Given the description of an element on the screen output the (x, y) to click on. 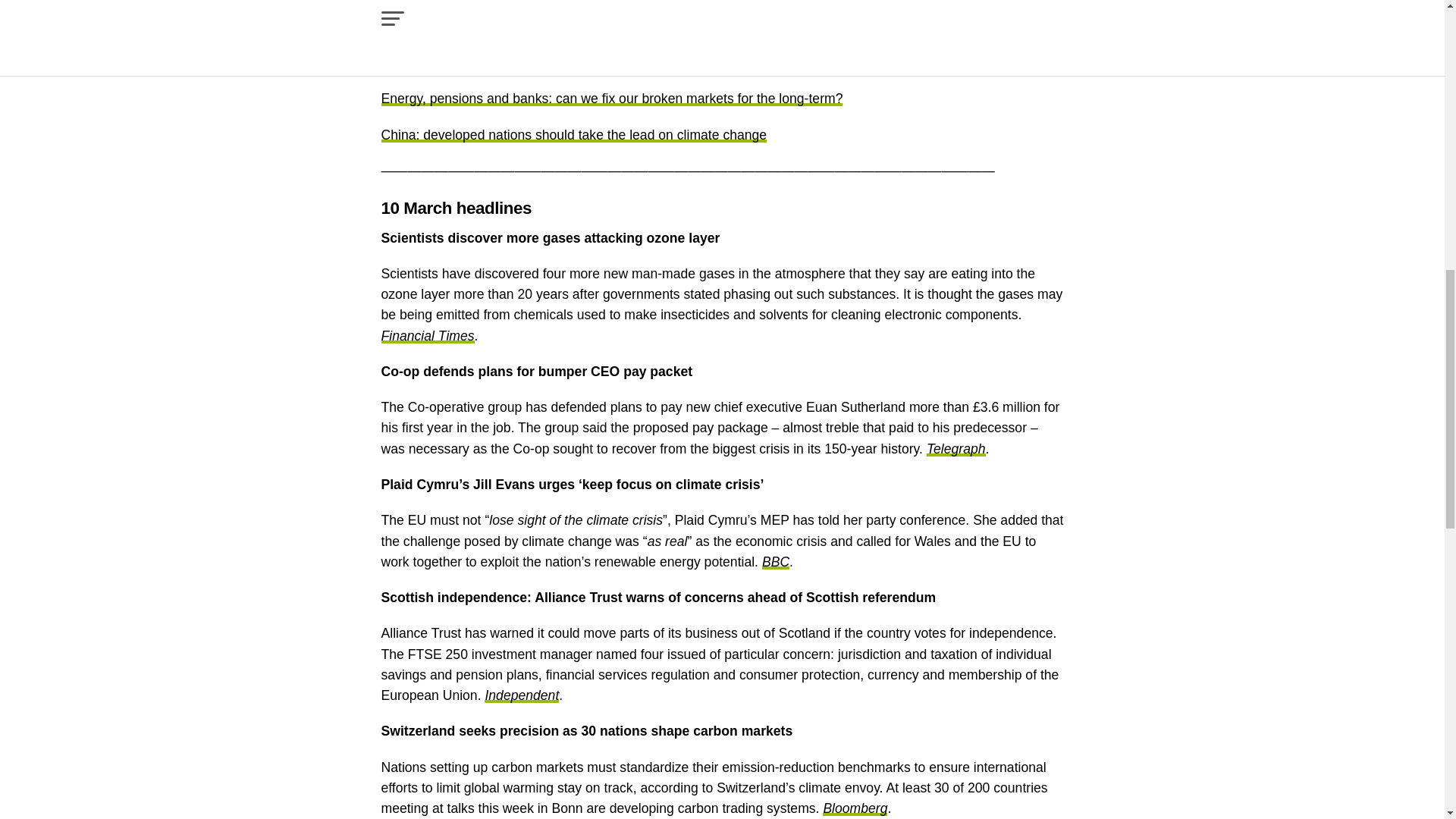
Financial Times (427, 335)
Telegraph (955, 448)
Independent (521, 694)
Bloomberg (854, 807)
BBC (775, 561)
Crimea, the carbon bubble and climate change (519, 27)
